Given the description of an element on the screen output the (x, y) to click on. 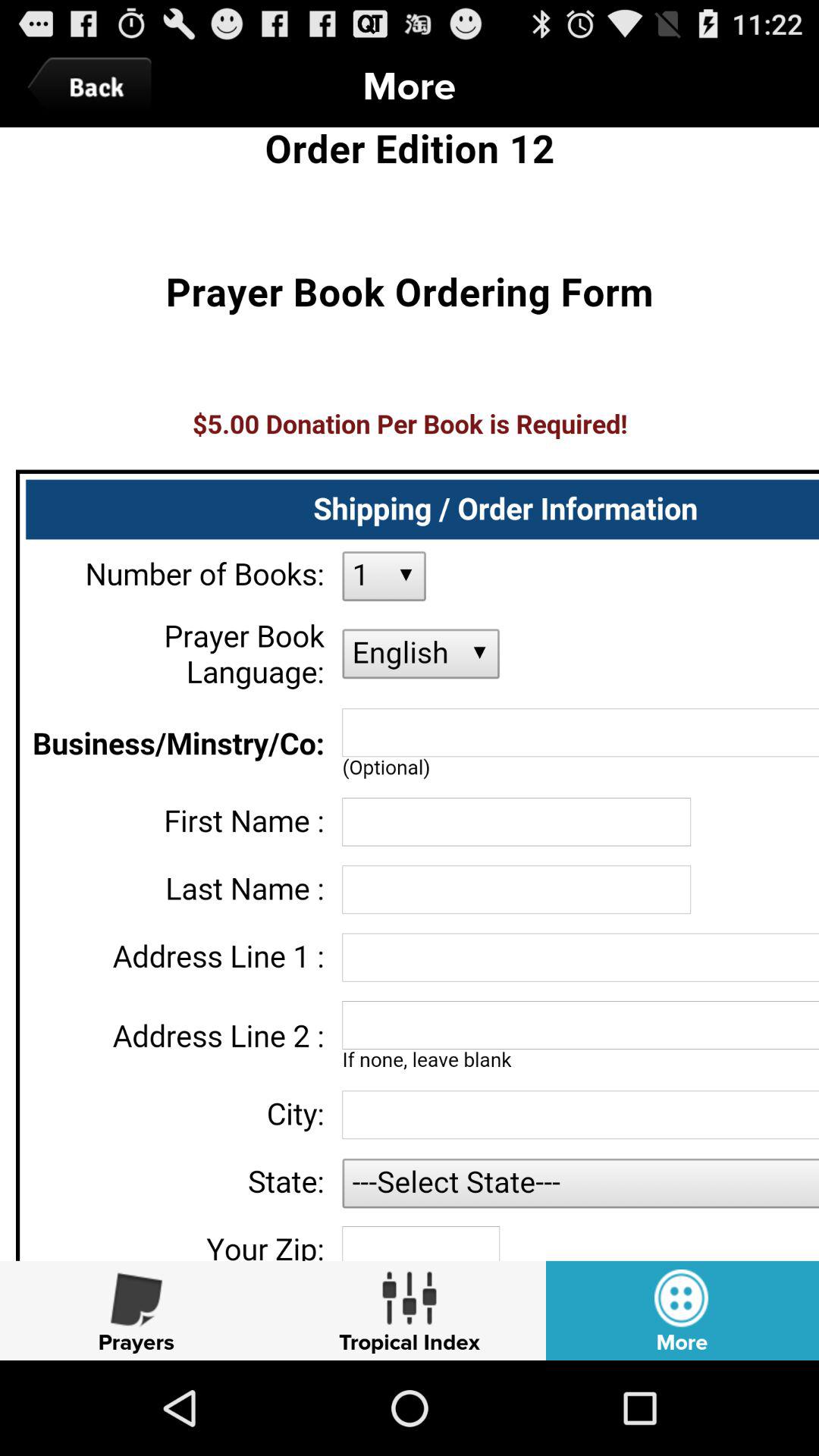
description (409, 693)
